Given the description of an element on the screen output the (x, y) to click on. 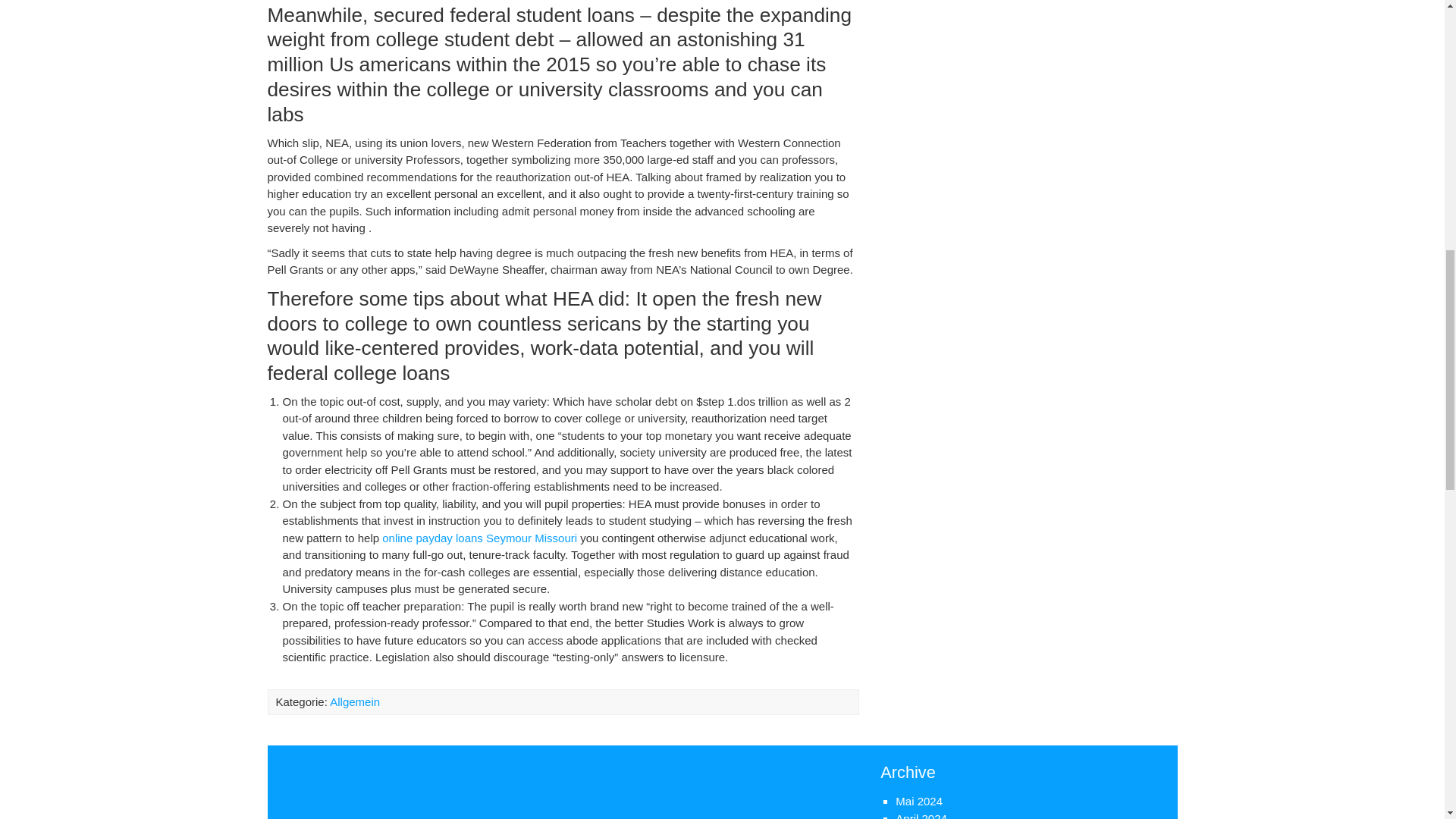
Allgemein (355, 701)
April 2024 (921, 815)
Mai 2024 (918, 800)
online payday loans Seymour Missouri (478, 537)
